Given the description of an element on the screen output the (x, y) to click on. 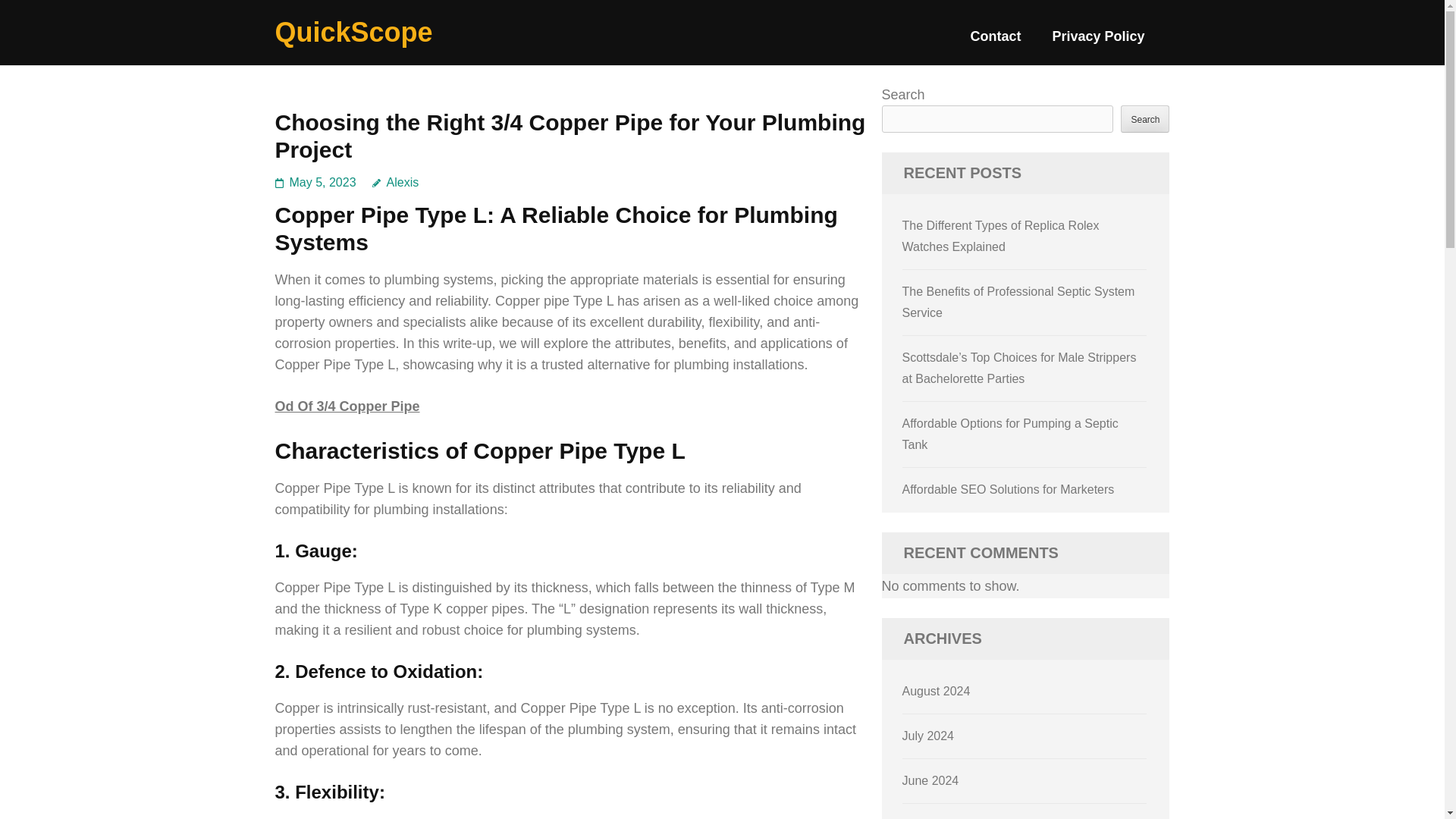
The Different Types of Replica Rolex Watches Explained (1000, 236)
The Benefits of Professional Septic System Service (1018, 302)
June 2024 (930, 780)
May 5, 2023 (322, 182)
QuickScope (353, 31)
Search (1145, 118)
Affordable SEO Solutions for Marketers (1008, 489)
Contact (994, 42)
Privacy Policy (1097, 42)
August 2024 (936, 690)
